Given the description of an element on the screen output the (x, y) to click on. 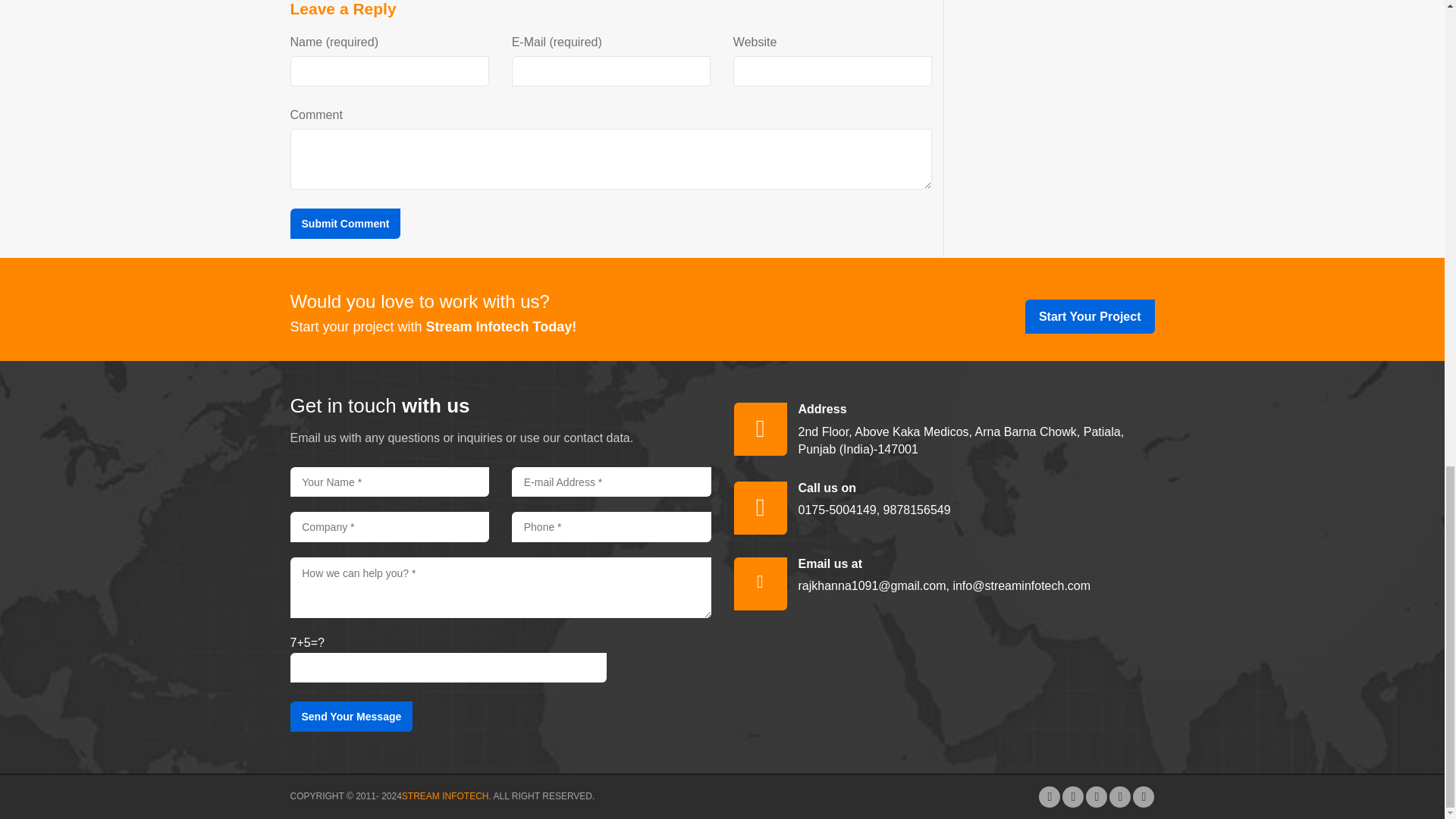
Submit Comment (344, 223)
Send Your Message (350, 716)
Submit Comment (344, 223)
Stream Infotech (445, 796)
